Given the description of an element on the screen output the (x, y) to click on. 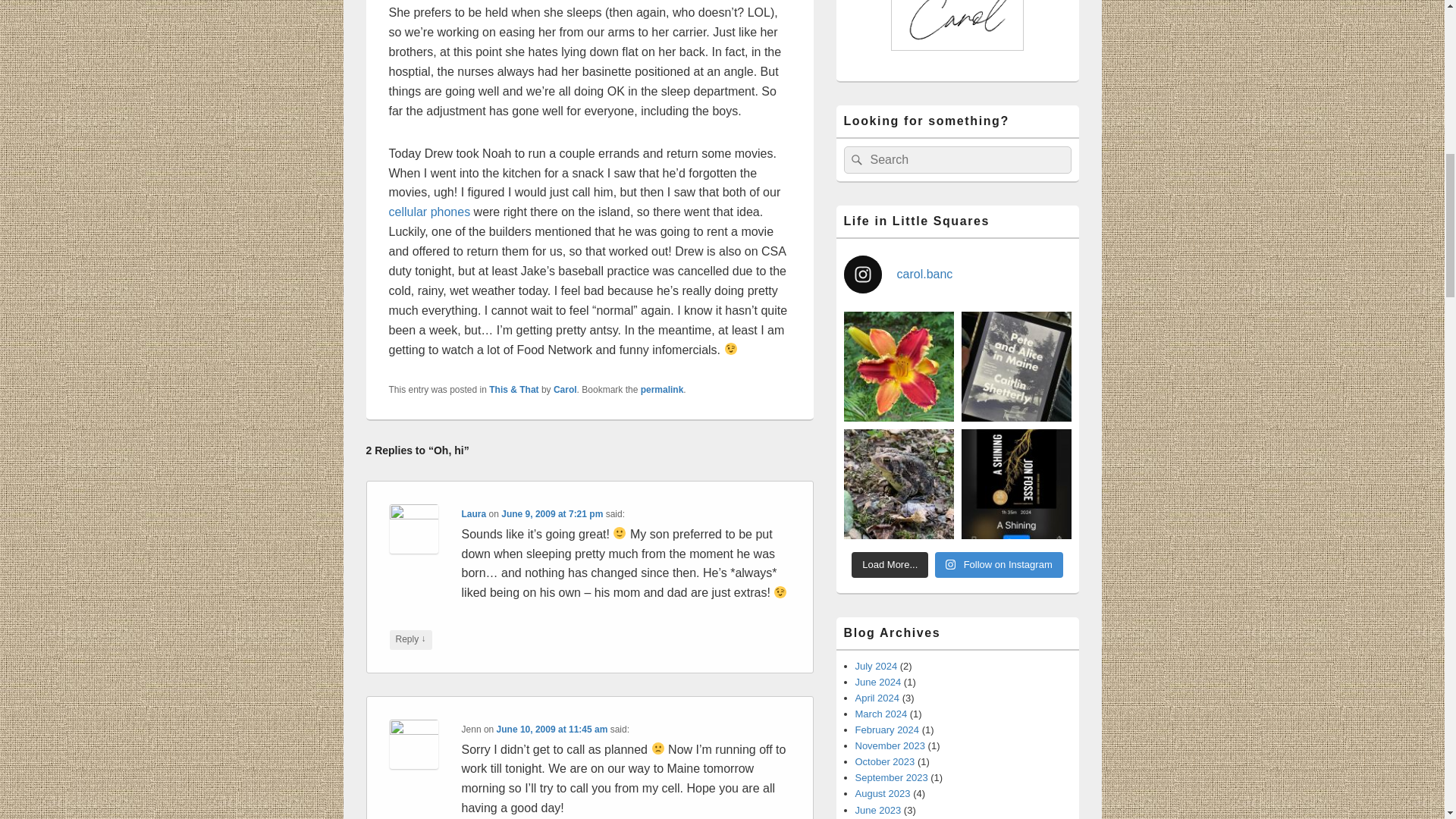
carol.banc (956, 274)
October 2023 (885, 761)
July 2024 (877, 665)
Search for: (956, 159)
April 2024 (877, 697)
June 10, 2009 at 11:45 am (552, 728)
March 2024 (881, 713)
June 2024 (878, 681)
Laura (473, 513)
February 2024 (888, 729)
Load More... (889, 565)
Carol (564, 389)
November 2023 (891, 745)
cellular phones (429, 211)
June 9, 2009 at 7:21 pm (551, 513)
